Given the description of an element on the screen output the (x, y) to click on. 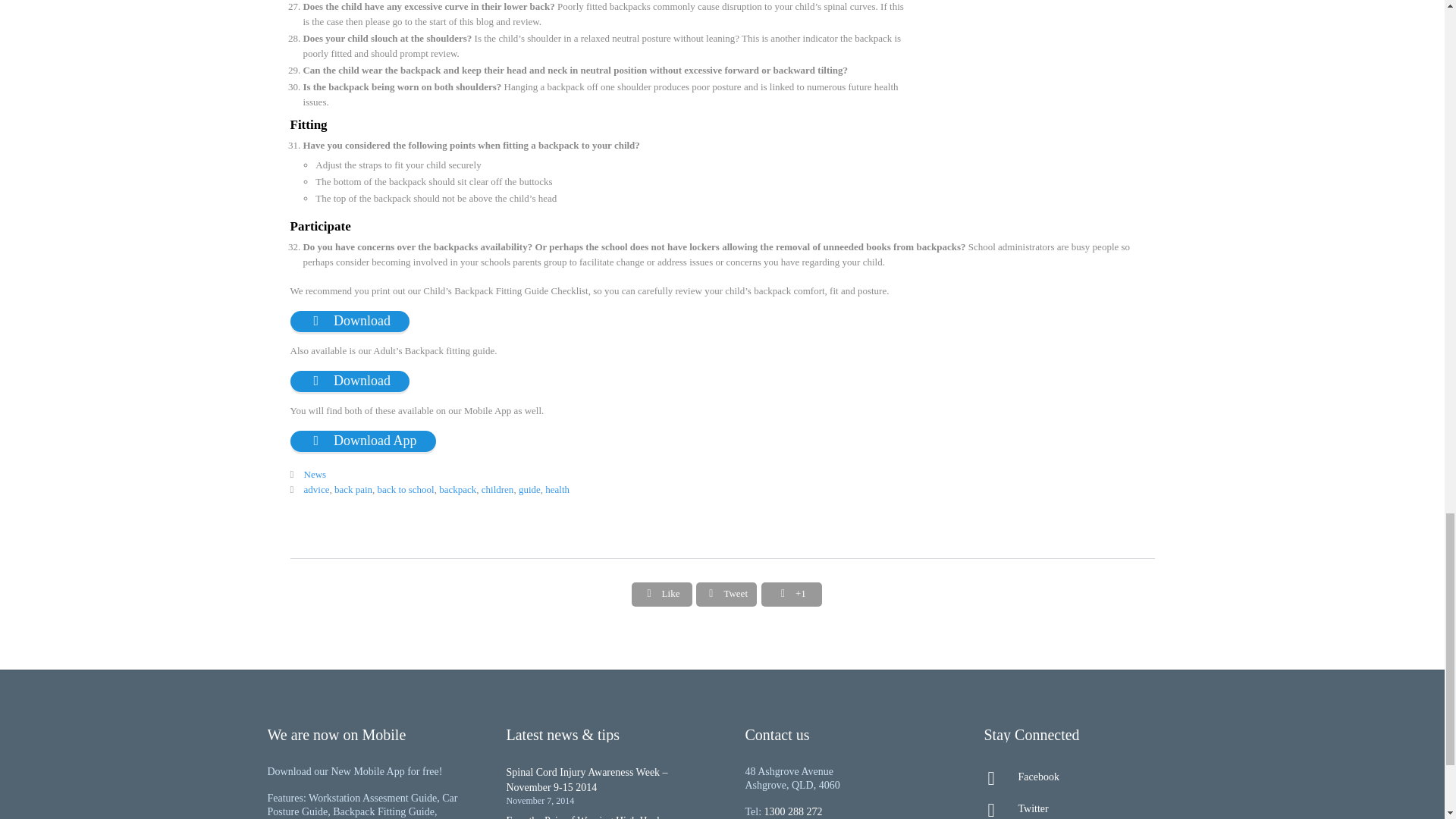
Share on Twitter (726, 593)
Share on Facebook (662, 593)
Facebook (1080, 776)
Ease the Pain of Wearing High Heels (584, 816)
Twitter (1080, 807)
Share on Google Plus (791, 593)
